Given the description of an element on the screen output the (x, y) to click on. 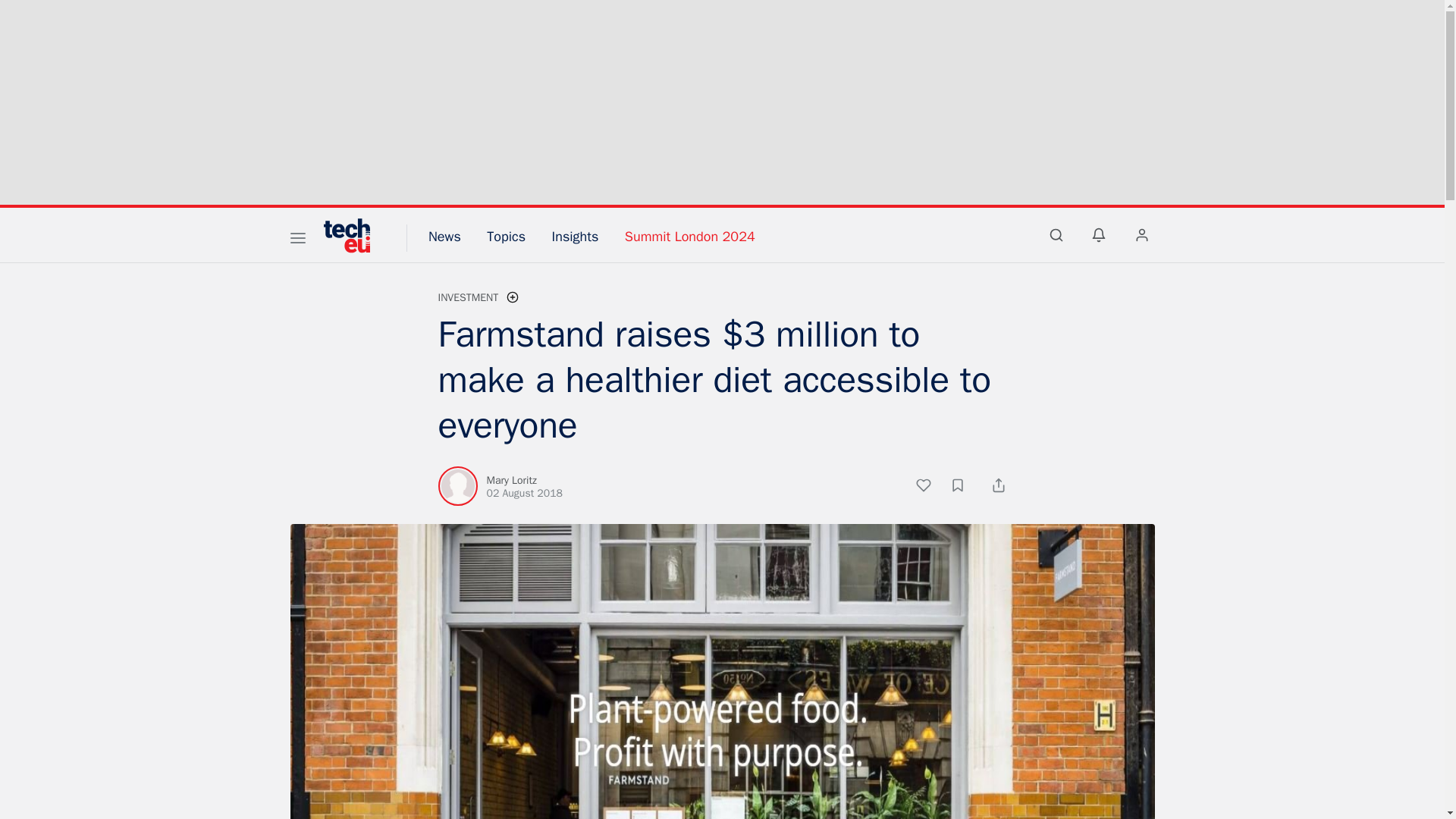
Topics (505, 236)
Summit London 2024 (689, 236)
Add to Collection (964, 487)
Investment (468, 297)
Like (930, 487)
News (444, 236)
Insights (574, 236)
